Given the description of an element on the screen output the (x, y) to click on. 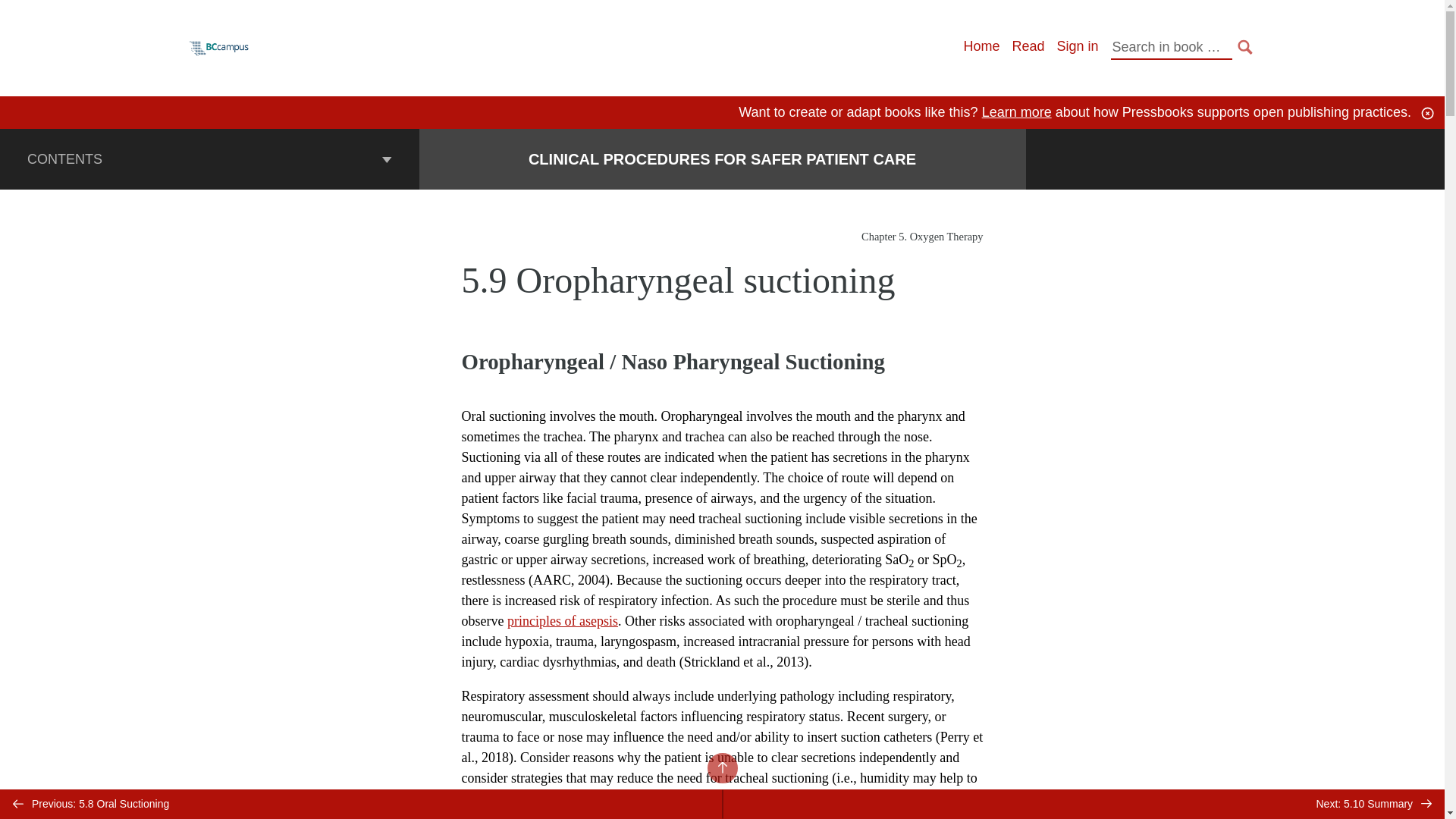
Read (1027, 46)
CLINICAL PROCEDURES FOR SAFER PATIENT CARE (721, 159)
Learn more (1016, 111)
principles of asepsis (561, 620)
Sign in (1077, 46)
BACK TO TOP (721, 767)
Previous: 5.8 Oral Suctioning (361, 804)
CONTENTS (209, 158)
Previous: 5.8 Oral Suctioning (361, 804)
Home (980, 46)
